Given the description of an element on the screen output the (x, y) to click on. 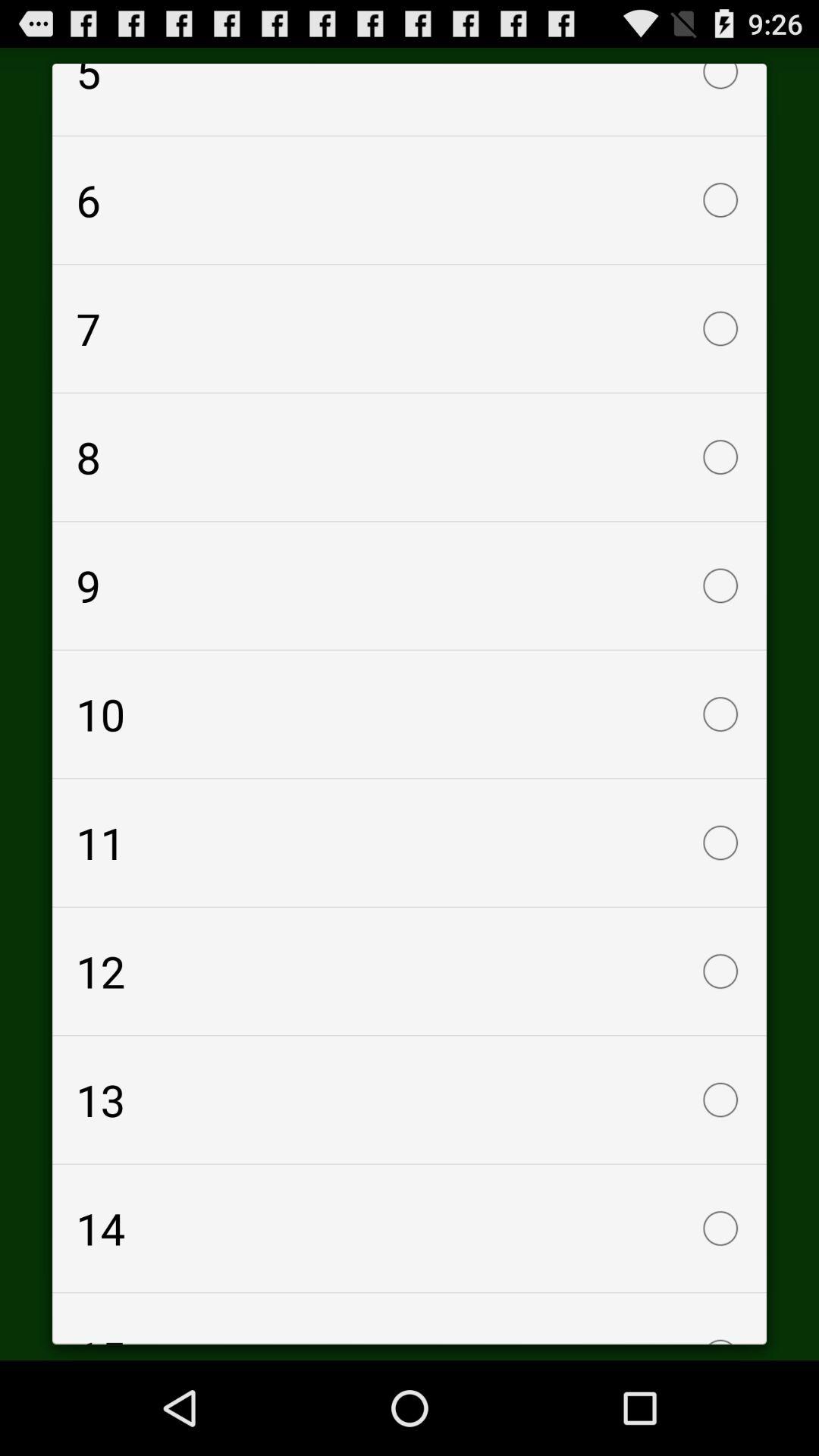
tap 12 checkbox (409, 971)
